Given the description of an element on the screen output the (x, y) to click on. 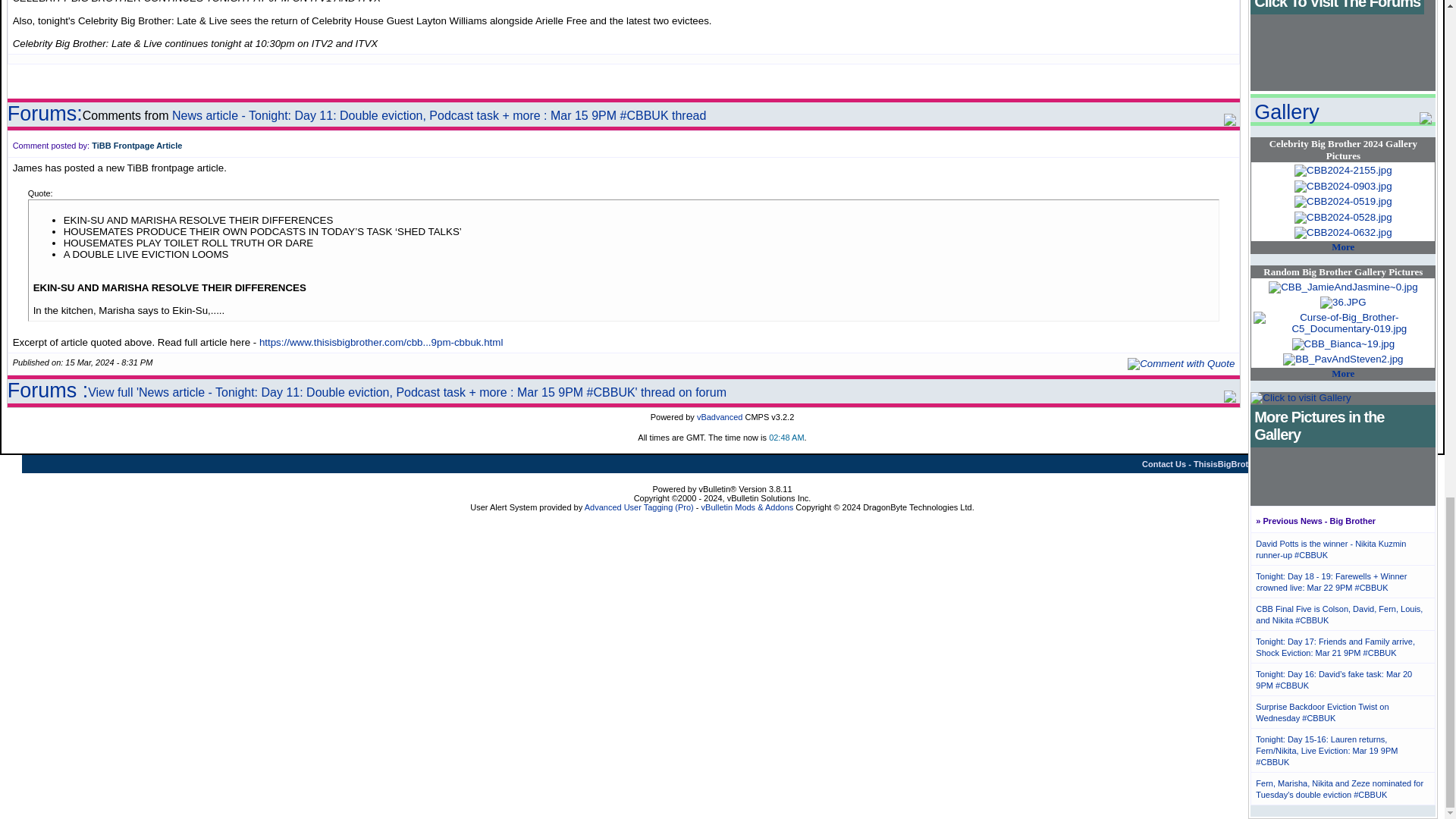
TiBB Frontpage Article (136, 144)
Forums : (47, 390)
Forums: (44, 113)
